Given the description of an element on the screen output the (x, y) to click on. 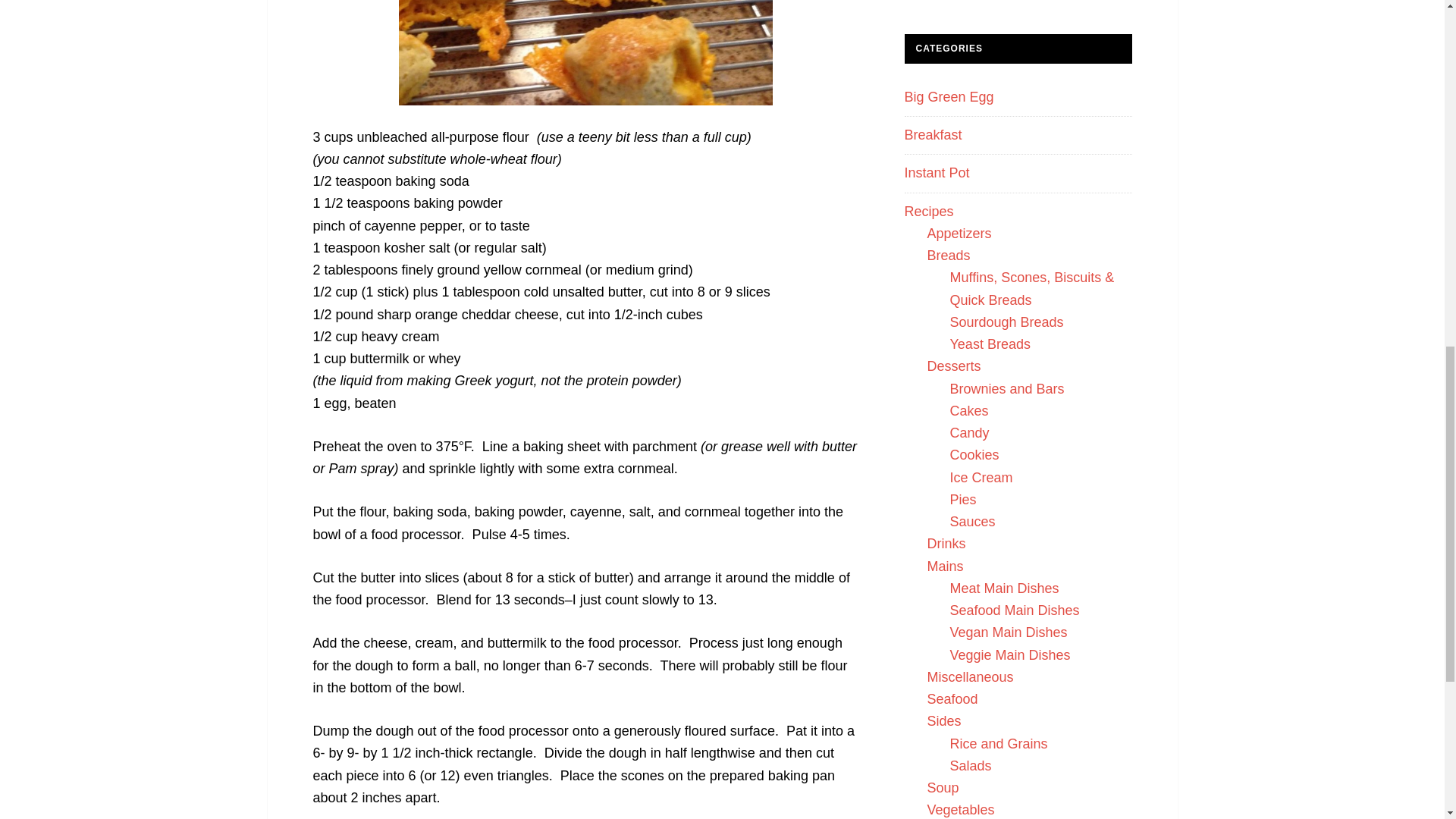
Rice and Grains (997, 743)
Cakes (968, 410)
Ice Cream (980, 477)
Candy (968, 432)
Brownies and Bars (1006, 388)
Drinks (945, 543)
Seafood (951, 698)
Soup (942, 787)
Appetizers (958, 233)
Sourdough Breads (1005, 322)
